Given the description of an element on the screen output the (x, y) to click on. 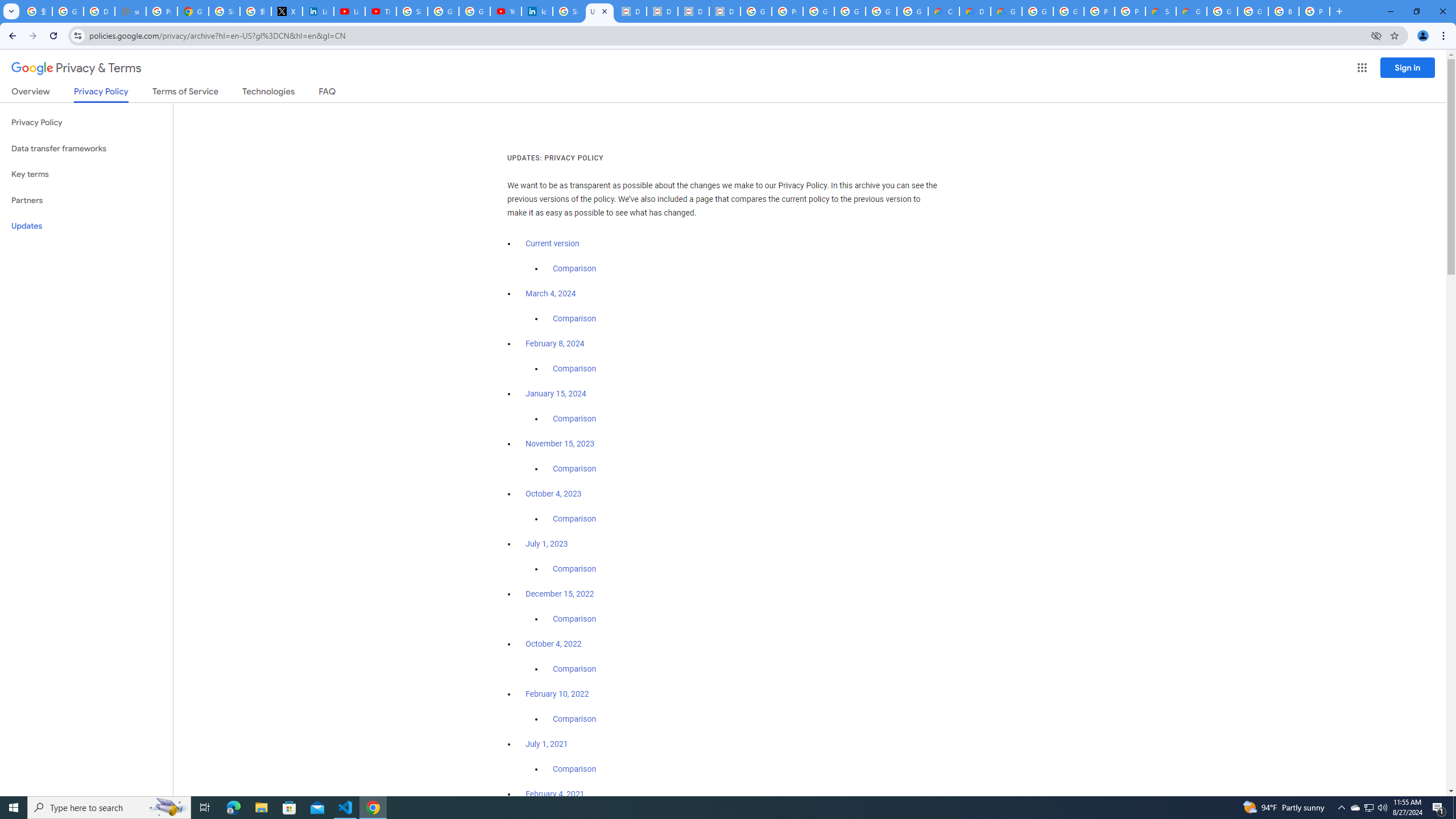
Gemini for Business and Developers | Google Cloud (1005, 11)
Sign in - Google Accounts (568, 11)
LinkedIn Privacy Policy (318, 11)
Sign in - Google Accounts (223, 11)
Sign in - Google Accounts (411, 11)
Privacy & Terms (76, 68)
Overview (30, 93)
Key terms (86, 174)
Google Cloud Service Health (1190, 11)
